Given the description of an element on the screen output the (x, y) to click on. 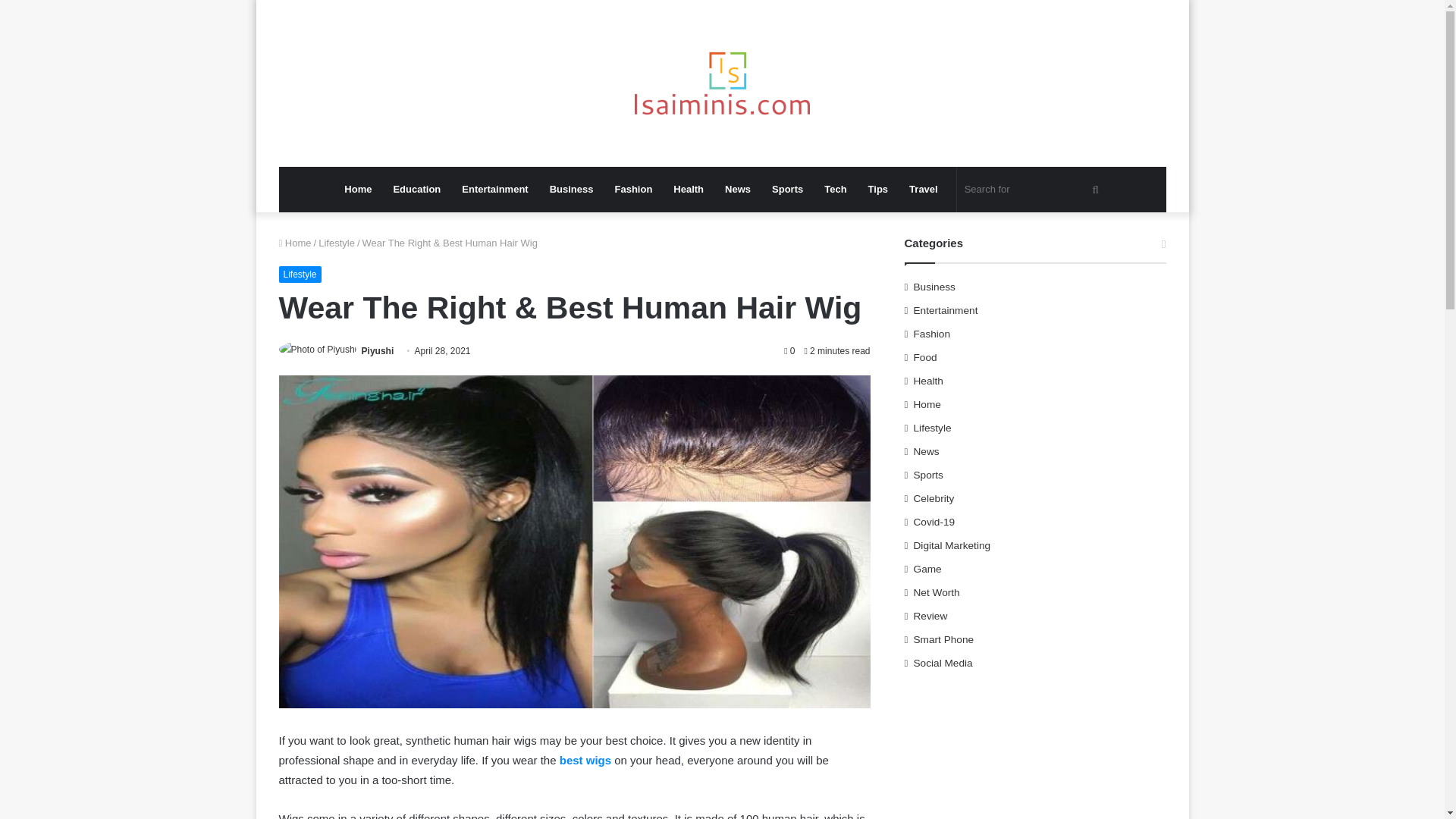
Business (571, 189)
Sports (787, 189)
Search for (1033, 189)
Lifestyle (300, 274)
Travel (923, 189)
Home (357, 189)
Education (416, 189)
Entertainment (494, 189)
Home (295, 242)
Health (688, 189)
News (737, 189)
Piyushi (377, 350)
Lifestyle (336, 242)
Fashion (633, 189)
Tech (835, 189)
